Given the description of an element on the screen output the (x, y) to click on. 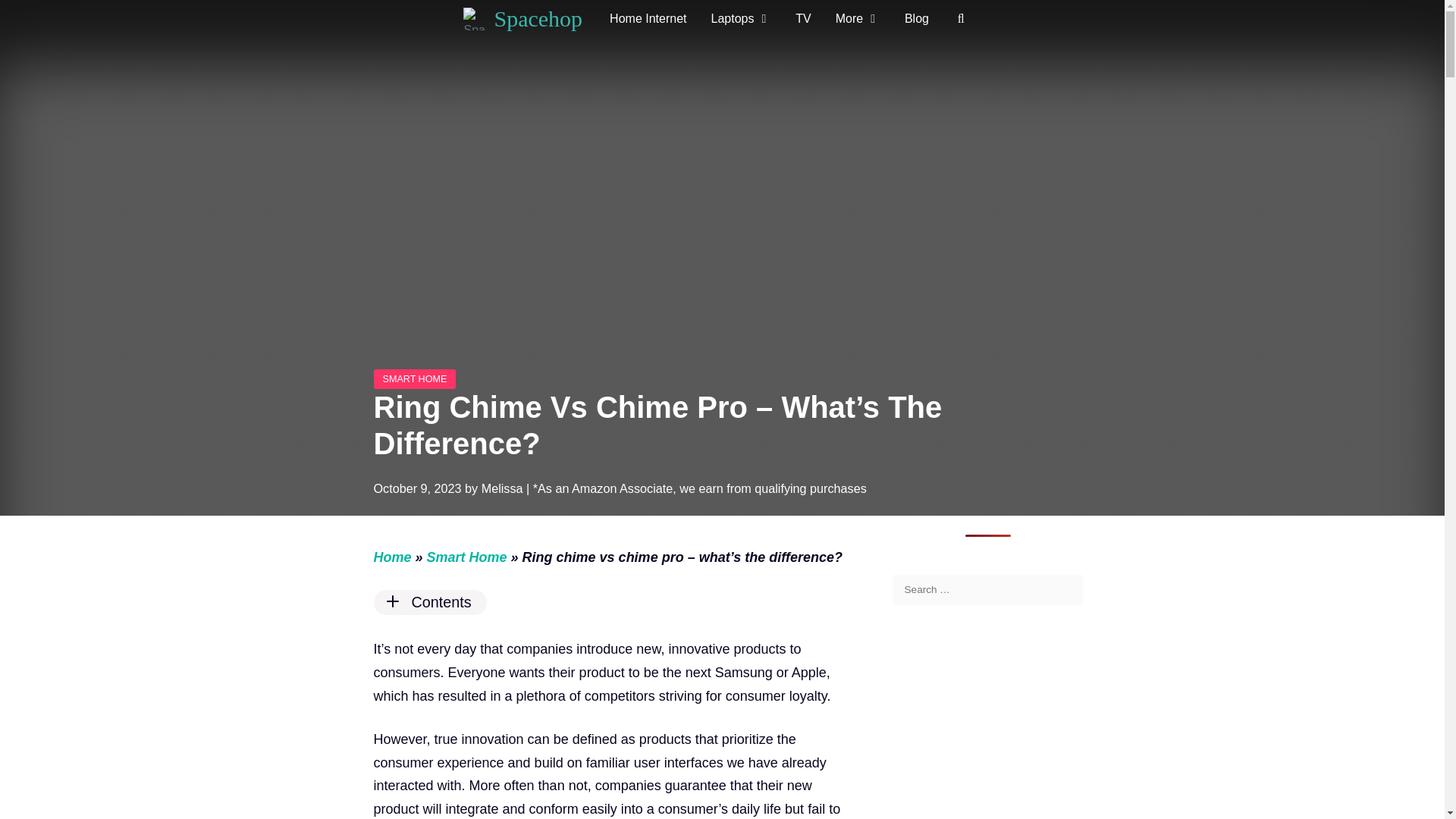
Laptops (741, 18)
View all posts by Melissa (501, 488)
More (858, 18)
TV (802, 18)
Blog (916, 18)
Spacehop (478, 18)
Spacehop (537, 18)
Spacehop (474, 18)
Home Internet (647, 18)
Contents (607, 602)
